Given the description of an element on the screen output the (x, y) to click on. 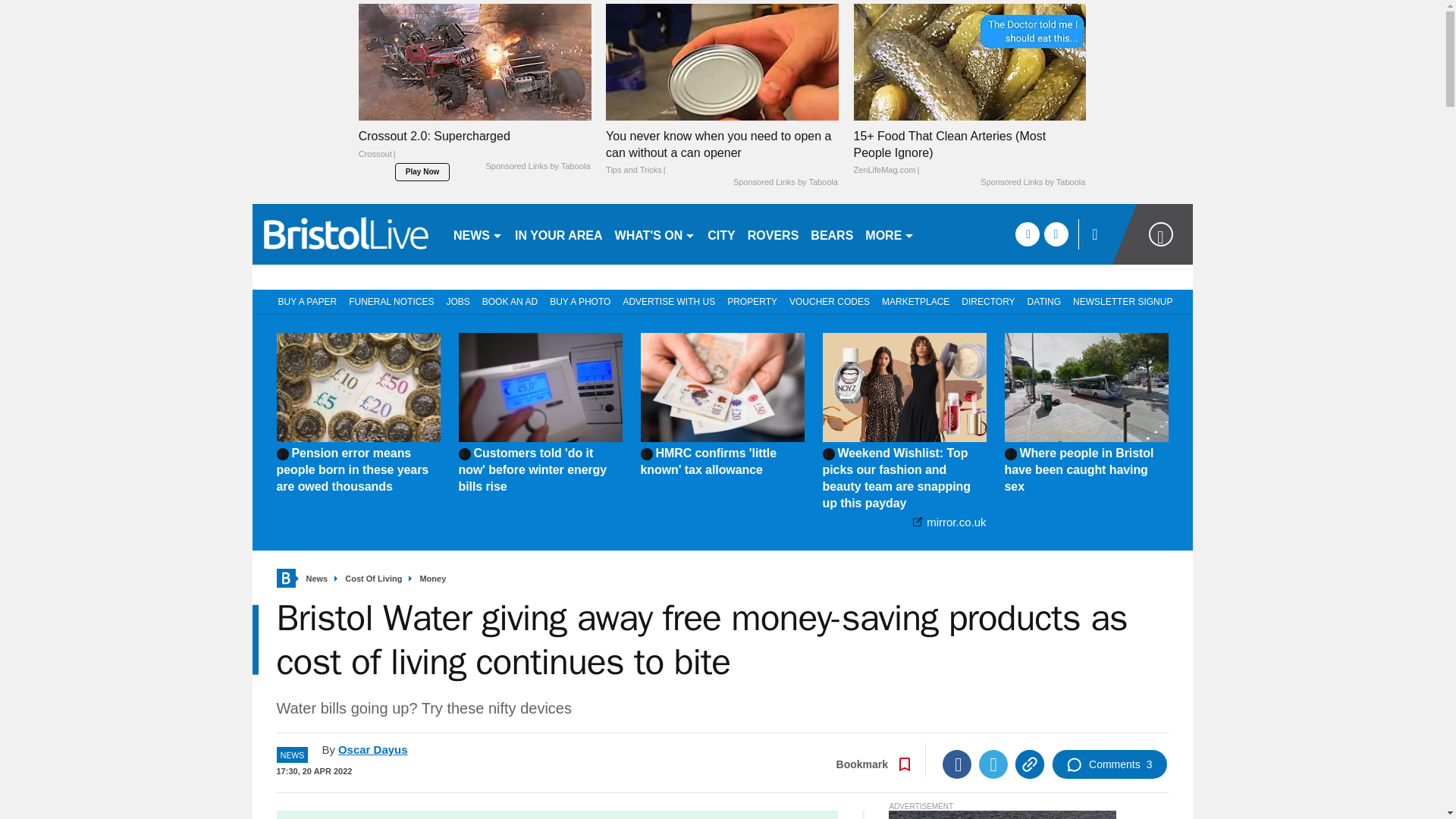
IN YOUR AREA (558, 233)
Crossout 2.0: Supercharged (474, 148)
Sponsored Links by Taboola (785, 182)
NEWS (477, 233)
bristolpost (345, 233)
facebook (1026, 233)
Sponsored Links by Taboola (536, 166)
Twitter (992, 764)
Play Now (421, 171)
Sponsored Links by Taboola (1031, 182)
Facebook (956, 764)
twitter (1055, 233)
WHAT'S ON (654, 233)
